Given the description of an element on the screen output the (x, y) to click on. 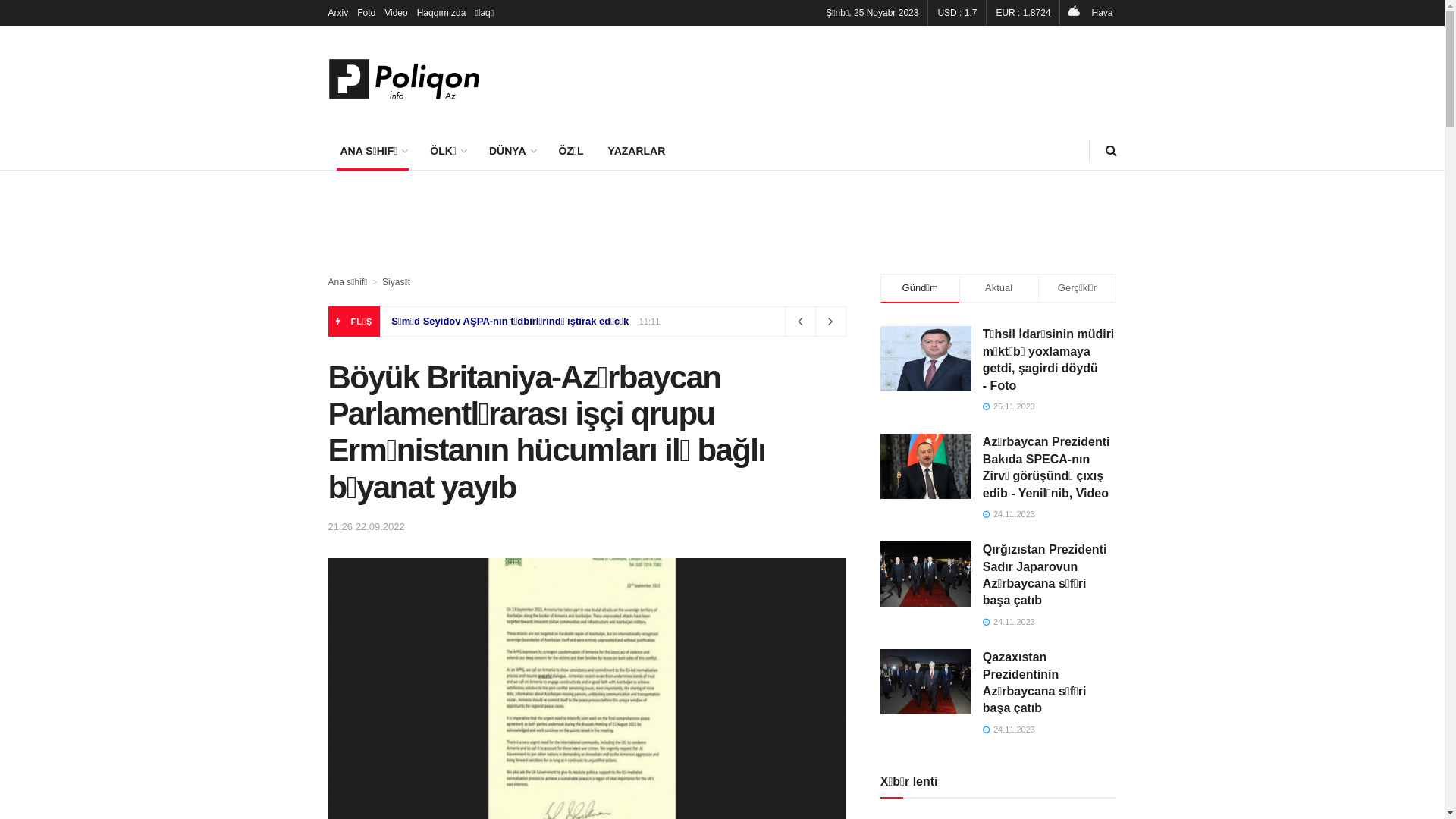
YAZARLAR Element type: text (636, 150)
21:26 22.09.2022 Element type: text (365, 526)
Video Element type: text (395, 12)
Foto Element type: text (366, 12)
Arxiv Element type: text (337, 12)
